Given the description of an element on the screen output the (x, y) to click on. 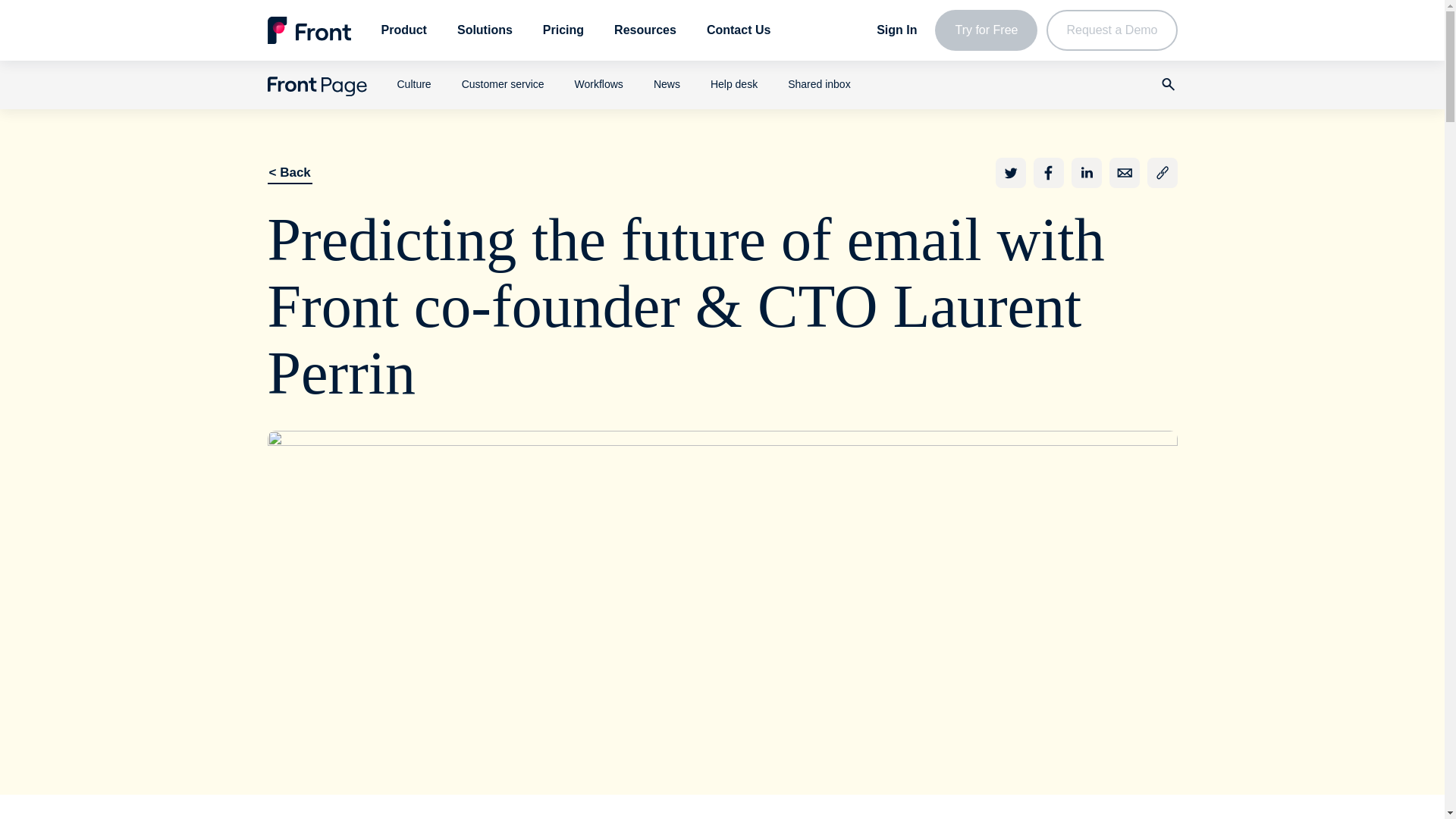
Pricing (563, 30)
Resources (645, 30)
Product (403, 30)
Front Homepage (308, 30)
Solutions (484, 30)
Contact Us (738, 30)
